Given the description of an element on the screen output the (x, y) to click on. 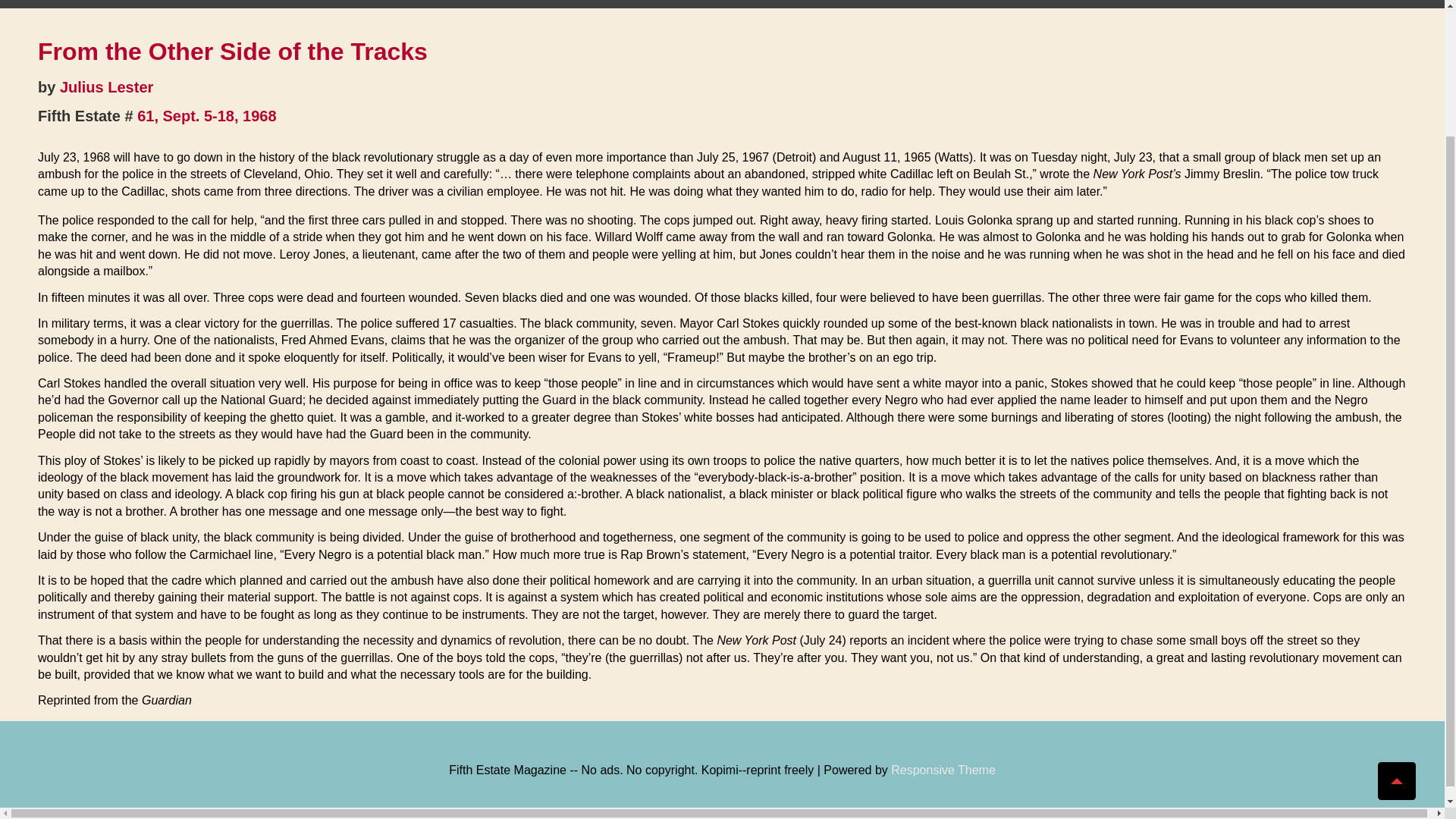
FE Facebook (827, 4)
Print Edition (623, 4)
Recordings (729, 4)
Home (398, 4)
Archive (916, 4)
Search FE (998, 4)
FE Store (729, 4)
Top (1396, 624)
61, Sept. 5-18, 1968 (206, 115)
Scroll to Top (1396, 624)
